Given the description of an element on the screen output the (x, y) to click on. 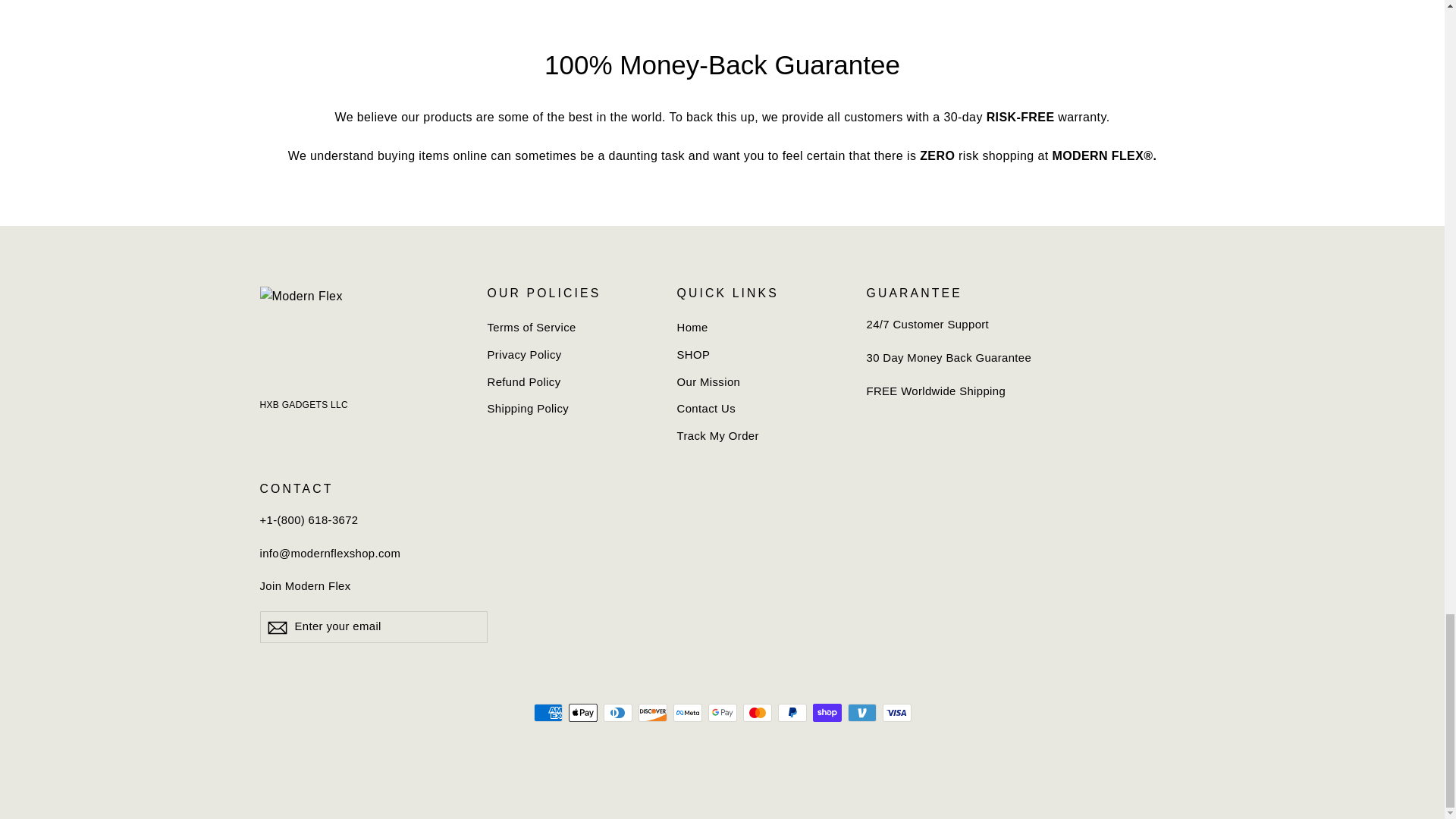
PayPal (791, 712)
American Express (548, 712)
Google Pay (721, 712)
Meta Pay (686, 712)
Discover (652, 712)
Home (760, 328)
Privacy Policy (569, 355)
Contact Us (760, 409)
SHOP (760, 355)
Our Mission (760, 382)
Terms of Service (569, 328)
Mastercard (756, 712)
Apple Pay (582, 712)
HXB GADGETS LLC (303, 404)
Refund Policy (569, 382)
